Given the description of an element on the screen output the (x, y) to click on. 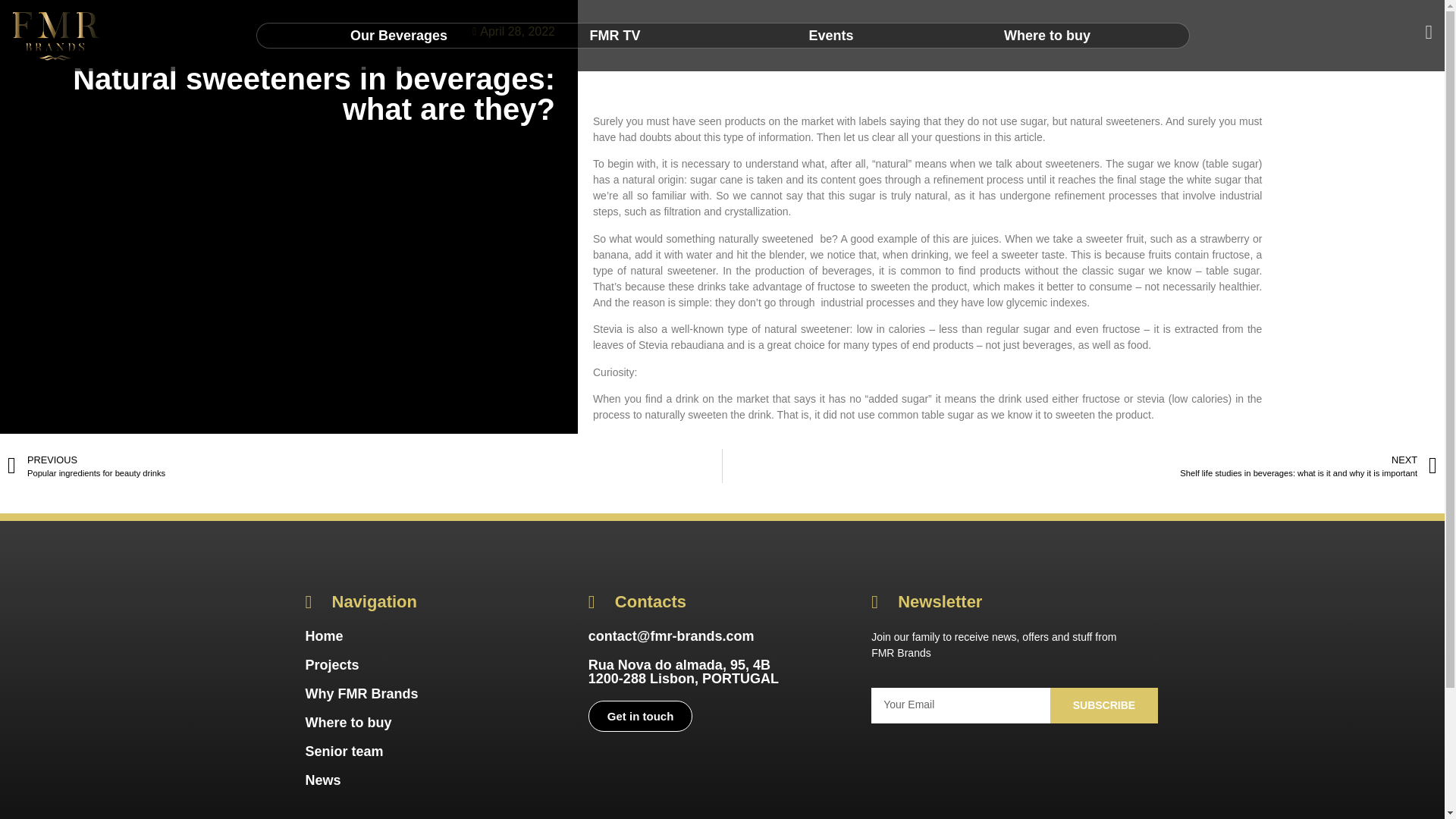
Our Beverages (398, 35)
SUBSCRIBE (1103, 705)
News (322, 780)
FMR TV (614, 35)
Where to buy (347, 722)
Projects (331, 664)
Get in touch (640, 716)
April 28, 2022 (509, 31)
Events (831, 35)
Why FMR Brands (360, 693)
Where to buy (364, 465)
Senior team (1047, 35)
Home (343, 751)
